Given the description of an element on the screen output the (x, y) to click on. 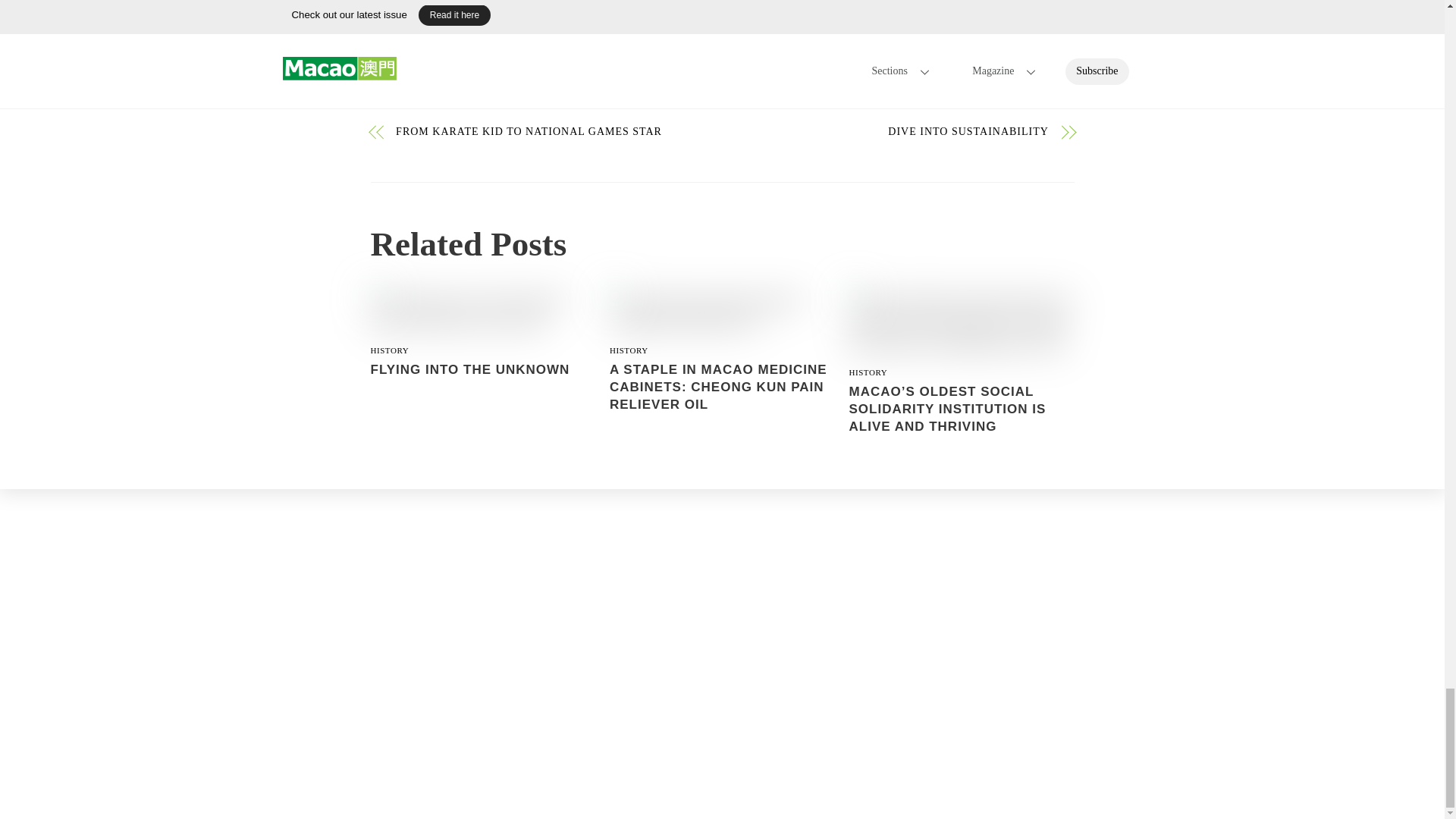
FLYING INTO THE UNKNOWN (469, 369)
FROM KARATE KID TO NATIONAL GAMES STAR (548, 131)
DIVE INTO SUSTAINABILITY (895, 131)
HISTORY (389, 349)
HISTORY (628, 349)
